Given the description of an element on the screen output the (x, y) to click on. 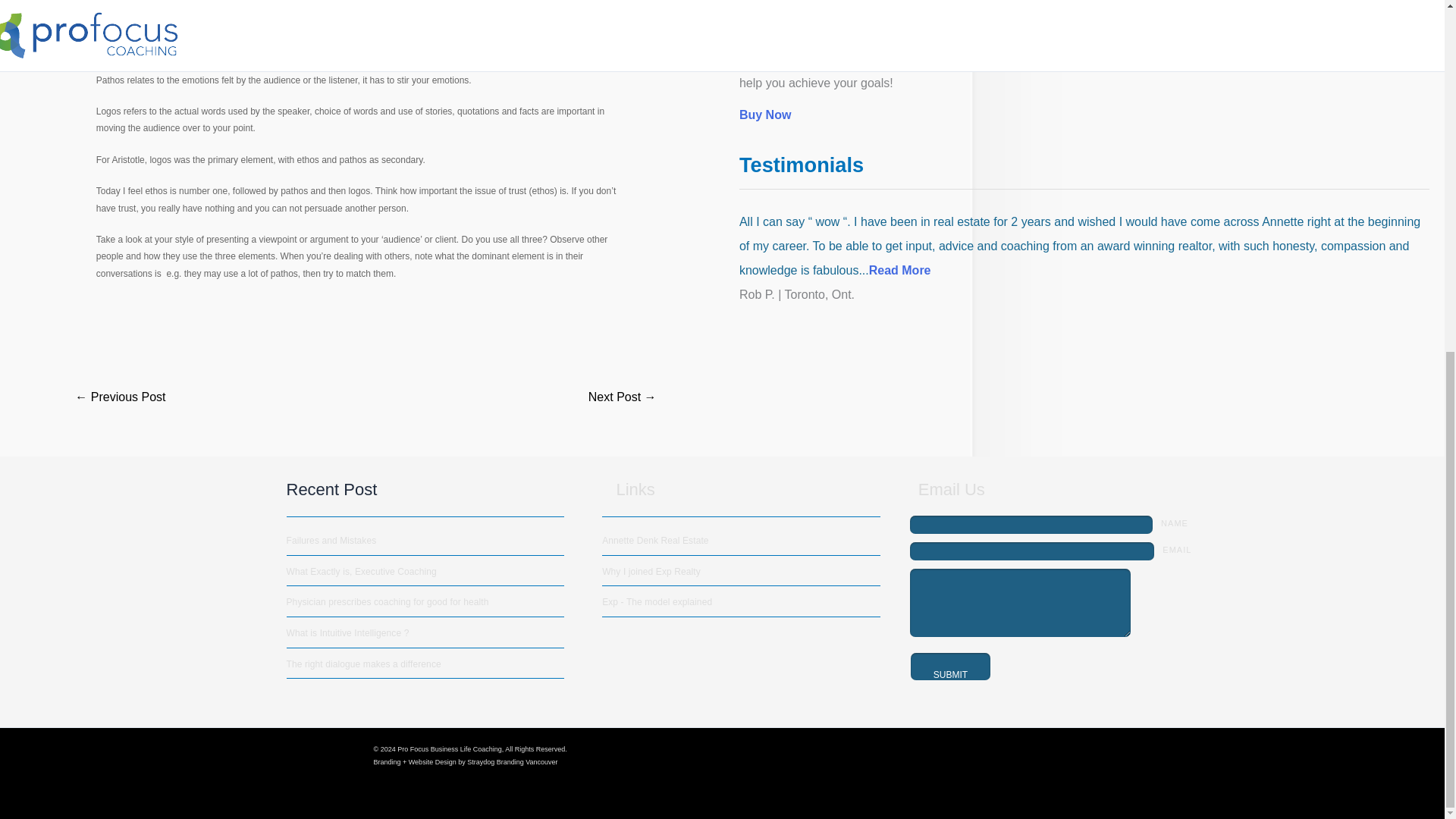
In a crisis...build on strength (119, 397)
Real Estate, Business Coaching Testimonials (900, 269)
Business-Coaching-book-annette (783, 23)
Submit (950, 666)
